Given the description of an element on the screen output the (x, y) to click on. 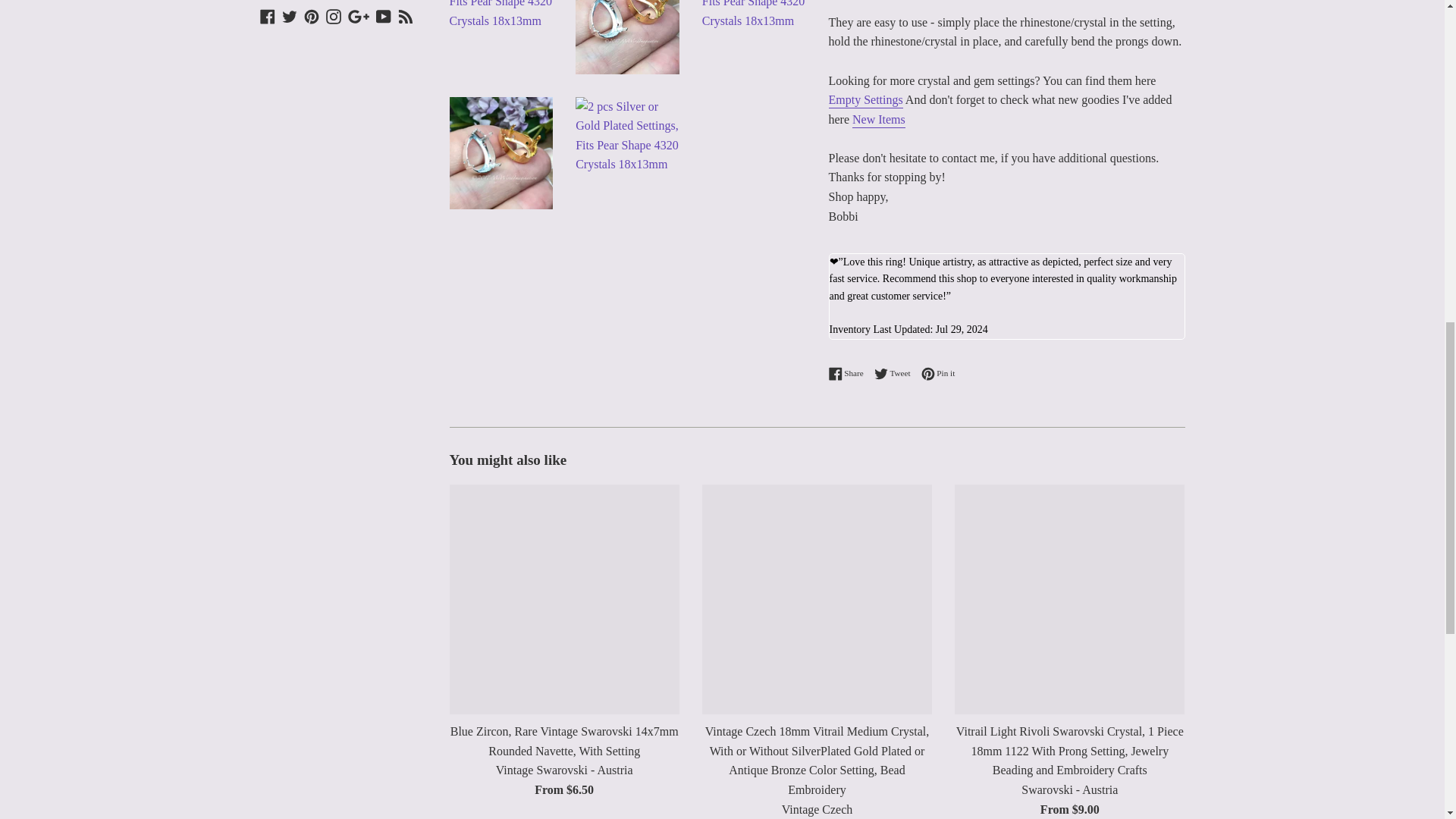
Tweet on Twitter (896, 373)
My Wired Imagination on Facebook (267, 15)
Pin on Pinterest (938, 373)
My Wired Imagination on Instagram (333, 15)
My Wired Imagination on Pinterest (310, 15)
My Wired Imagination on Google Plus (357, 15)
My Wired Imagination on Twitter (289, 15)
Share on Facebook (849, 373)
My Wired Imagination on YouTube (383, 15)
